Given the description of an element on the screen output the (x, y) to click on. 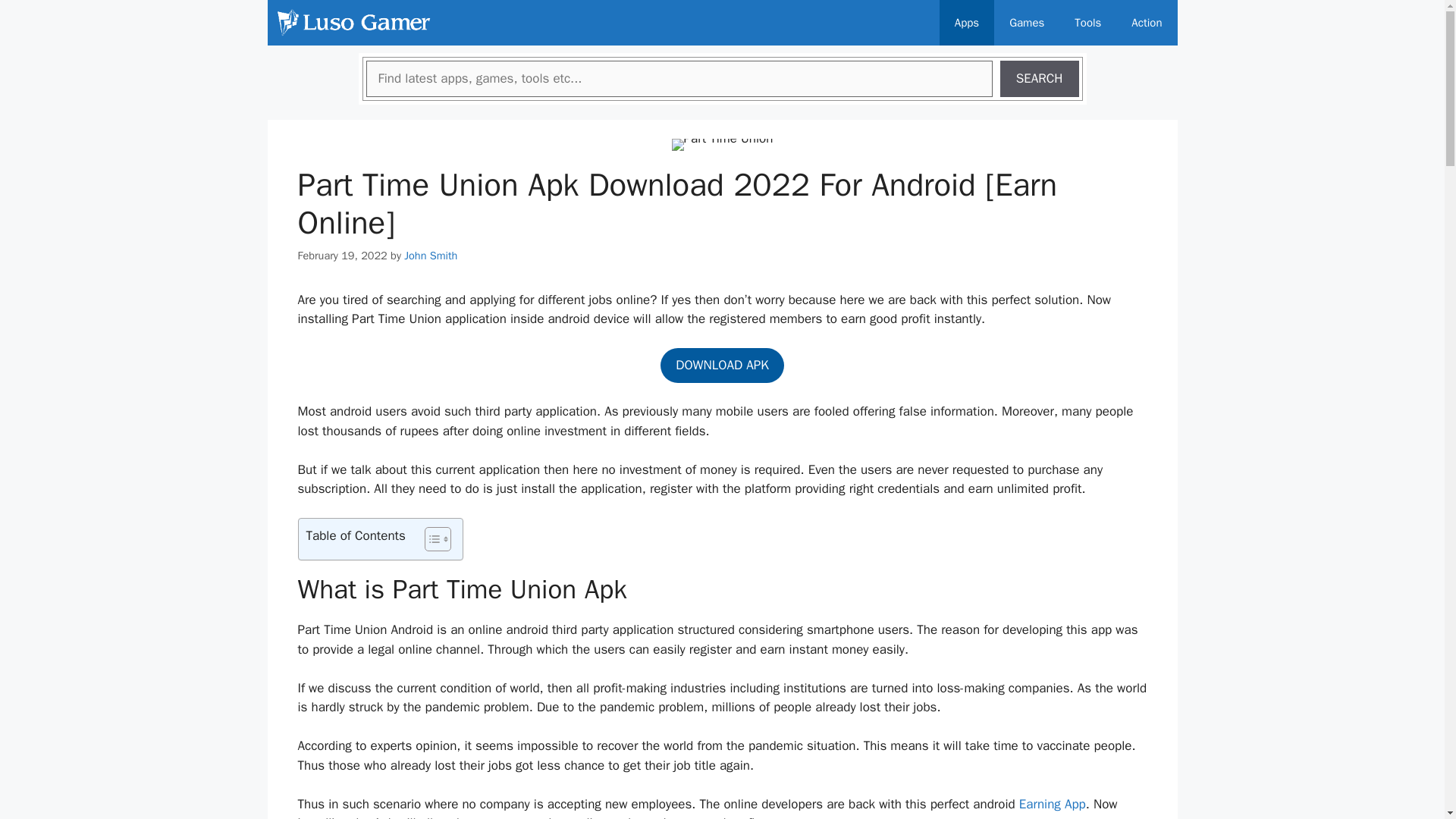
Tools (1087, 22)
John Smith (430, 255)
Earning App (1052, 804)
Games (1026, 22)
Action (1146, 22)
SEARCH (1039, 78)
Apps (966, 22)
Luso Gamer (353, 22)
DOWNLOAD APK (722, 365)
View all posts by John Smith (430, 255)
